Given the description of an element on the screen output the (x, y) to click on. 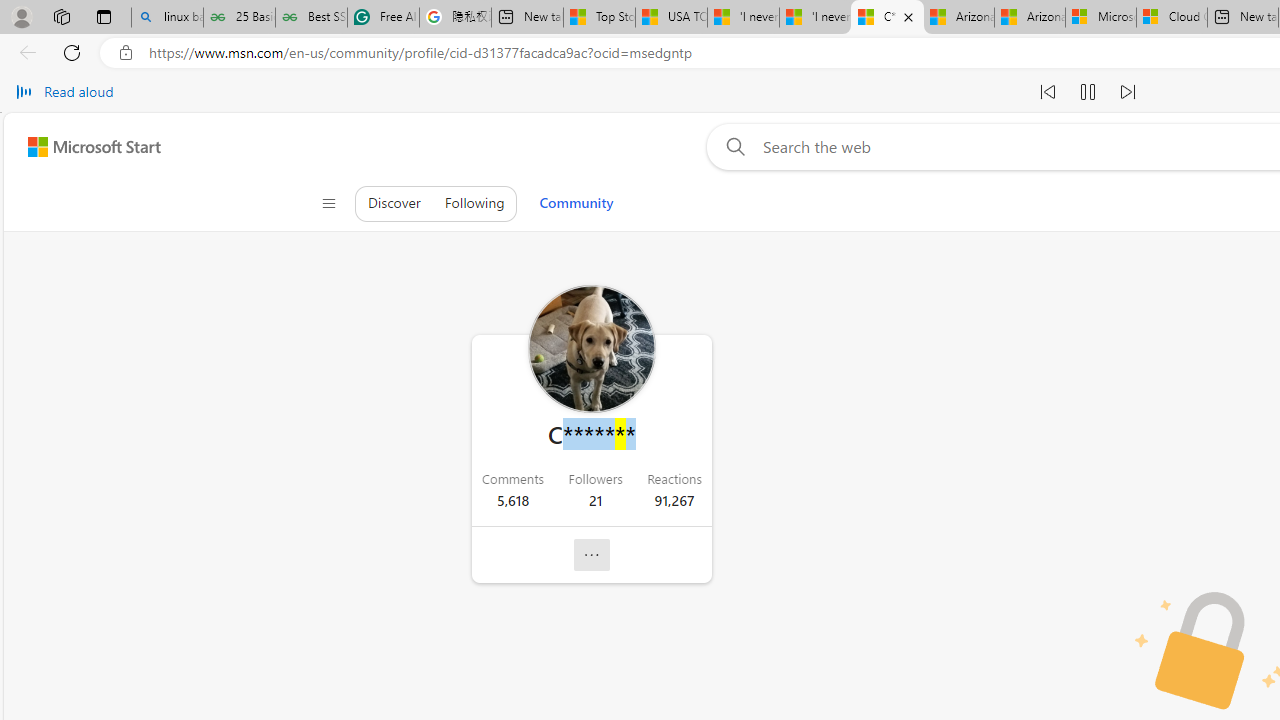
Pause read aloud (Ctrl+Shift+U) (1087, 92)
Class: control icon-only (329, 203)
Free AI Writing Assistance for Students | Grammarly (383, 17)
